Given the description of an element on the screen output the (x, y) to click on. 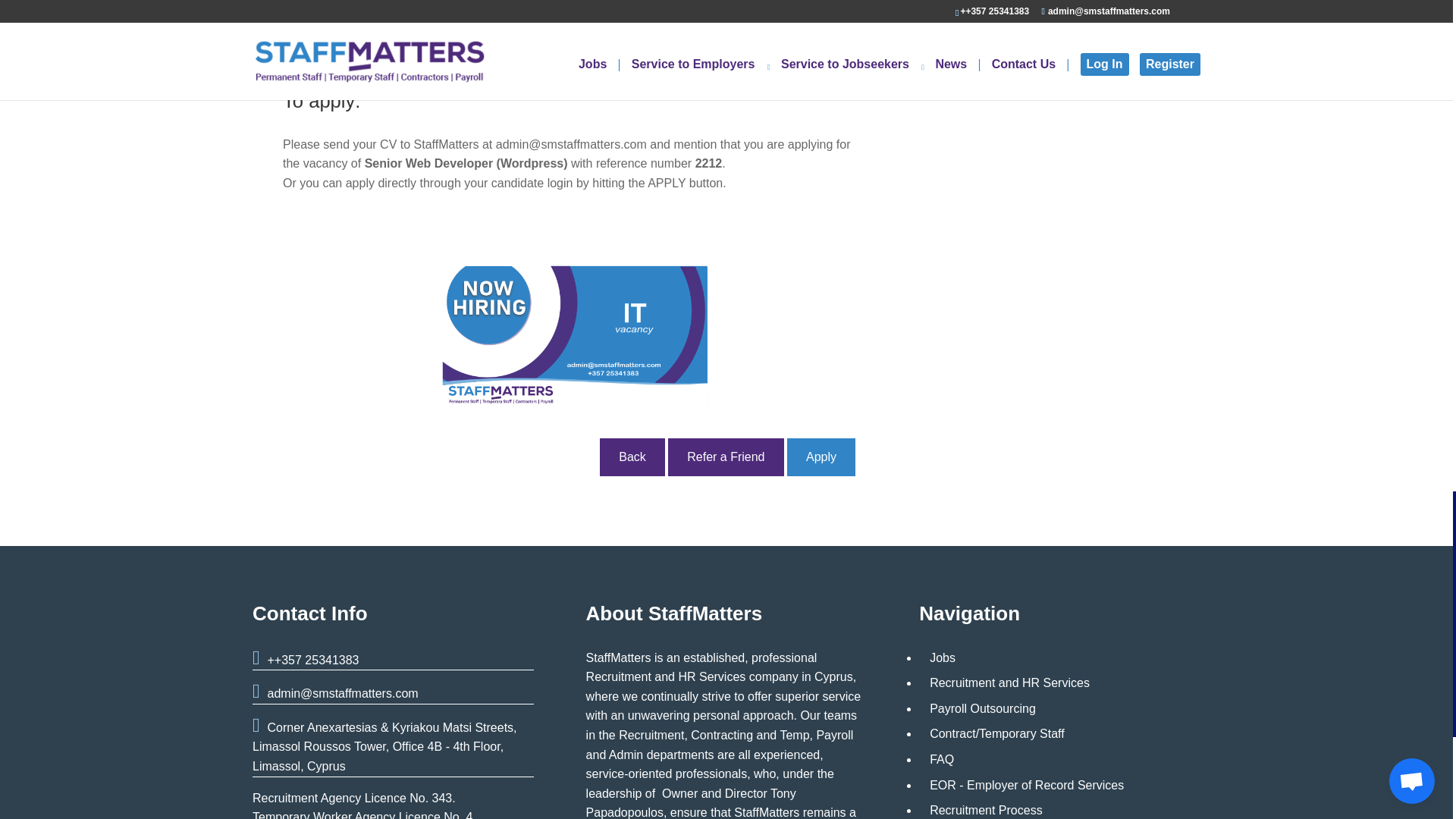
Apply (821, 456)
Back (632, 456)
Refer a Friend (725, 456)
